Given the description of an element on the screen output the (x, y) to click on. 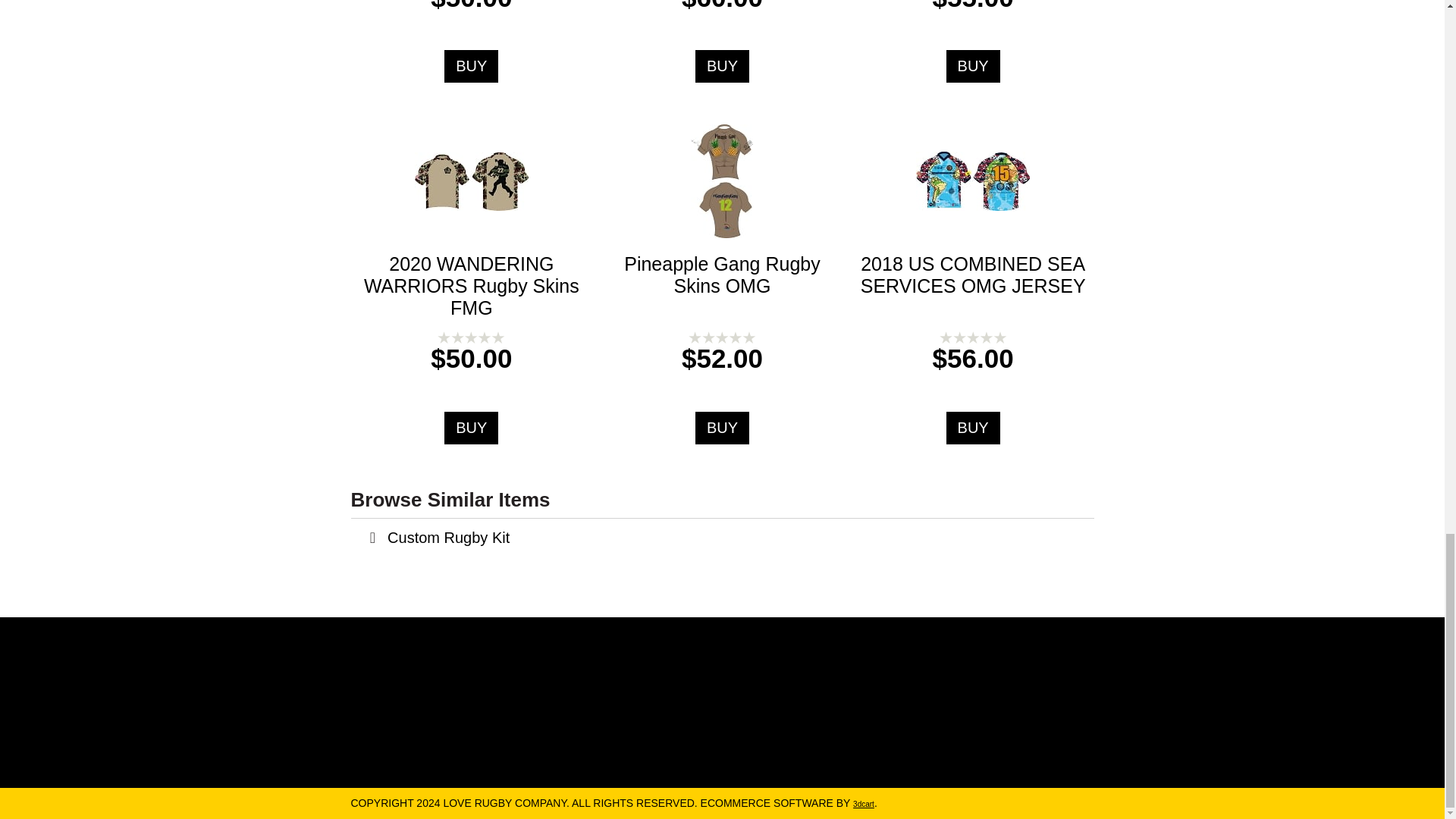
Buy (973, 65)
Buy (470, 427)
Buy (470, 65)
Buy (722, 65)
Buy (973, 427)
Buy (722, 427)
